Given the description of an element on the screen output the (x, y) to click on. 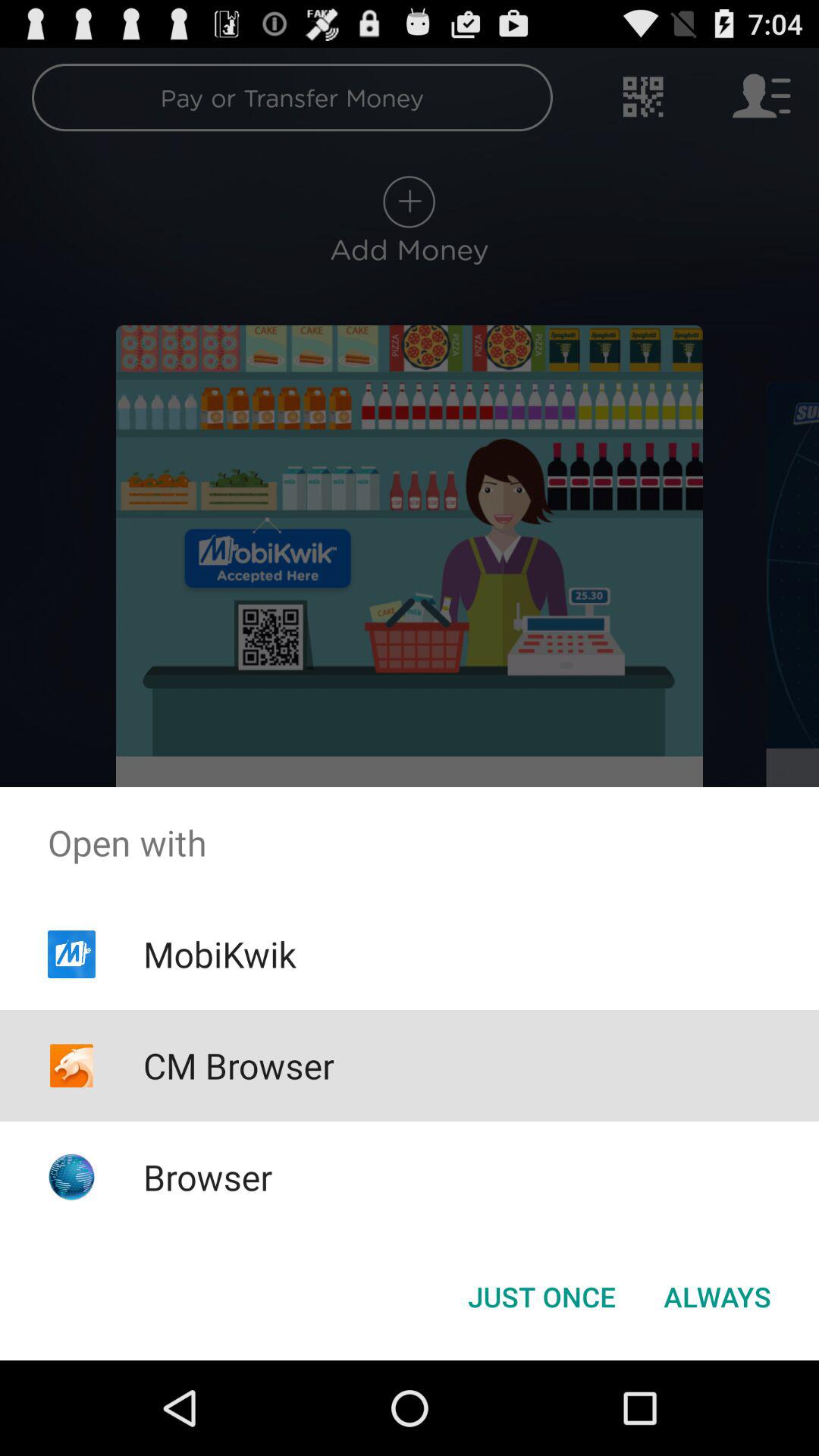
tap the cm browser item (238, 1065)
